Given the description of an element on the screen output the (x, y) to click on. 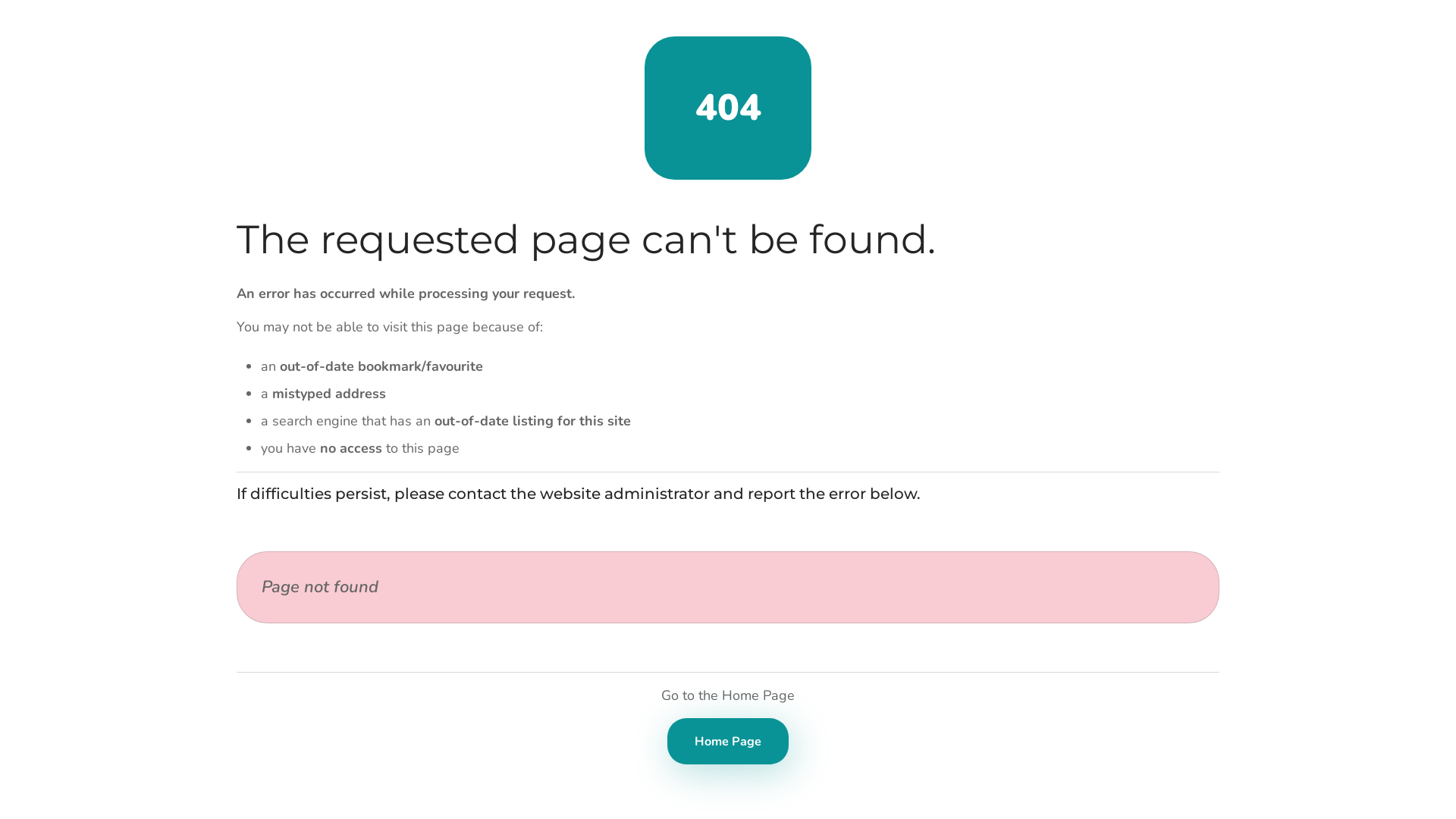
Home Page Element type: text (727, 741)
